Given the description of an element on the screen output the (x, y) to click on. 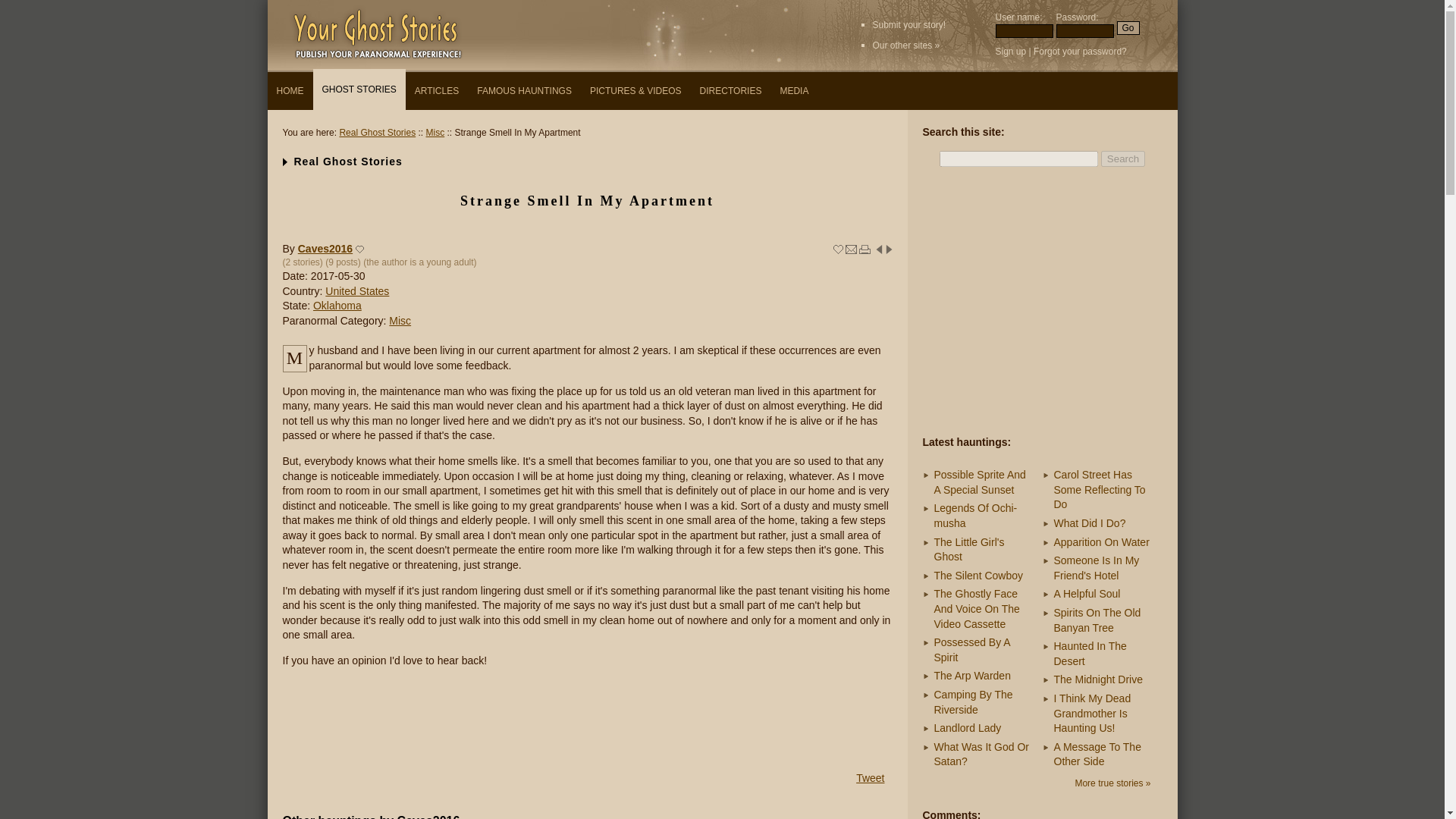
United States (356, 291)
Misc (435, 132)
Advertisement (1041, 303)
Add Caves2016 to your favorite people (360, 248)
Send this story to a friend (851, 248)
Caves2016 (325, 248)
Go (1127, 28)
Tweet (869, 777)
Send this story to a friend (851, 248)
Print this story (864, 248)
Misc (399, 320)
ARTICLES (436, 90)
Go (1127, 28)
Real Ghost Stories (376, 132)
GHOST STORIES (358, 88)
